Given the description of an element on the screen output the (x, y) to click on. 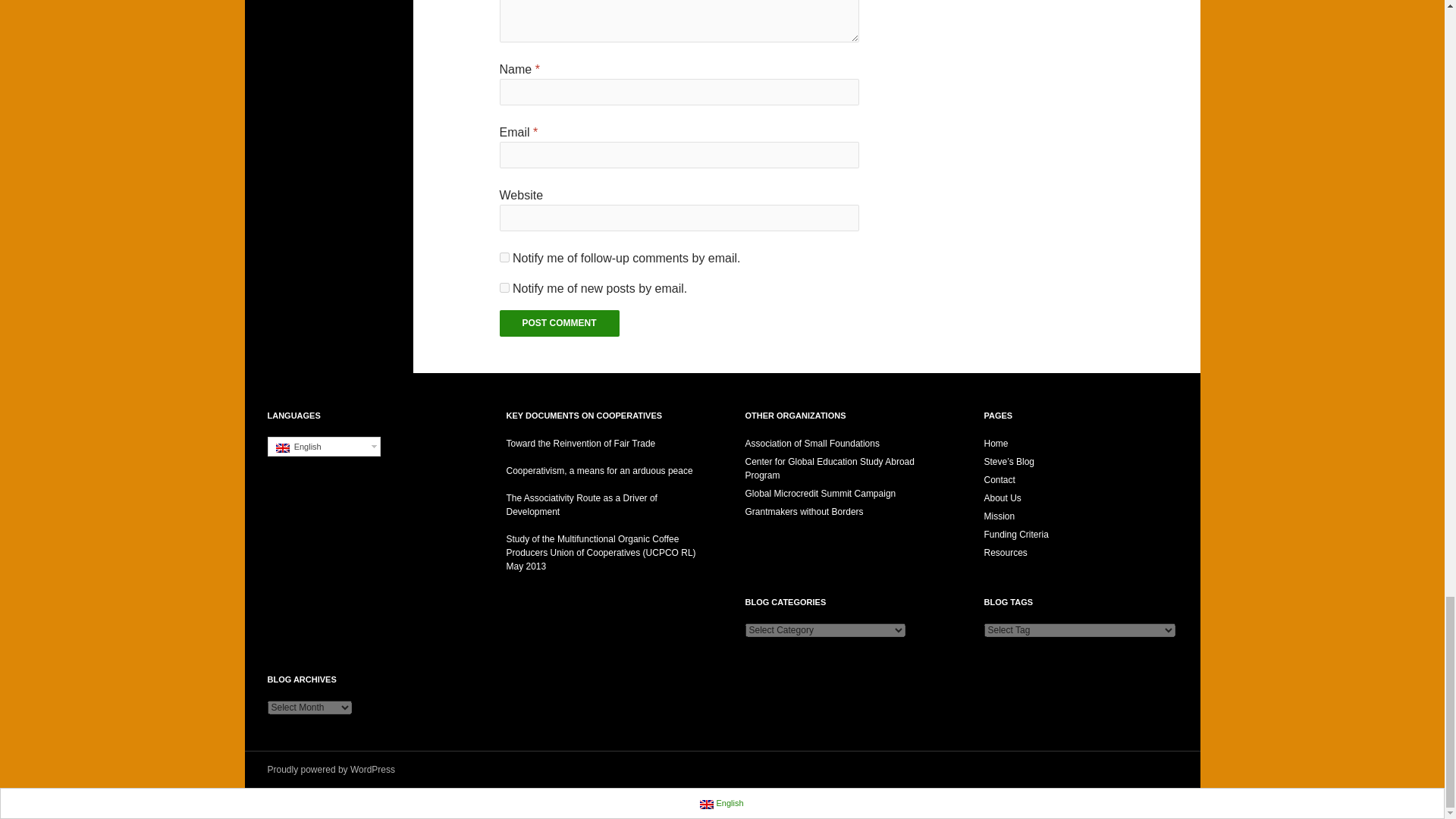
Post Comment (559, 323)
Post Comment (559, 323)
English (282, 447)
English (706, 804)
subscribe (504, 287)
subscribe (504, 257)
